Given the description of an element on the screen output the (x, y) to click on. 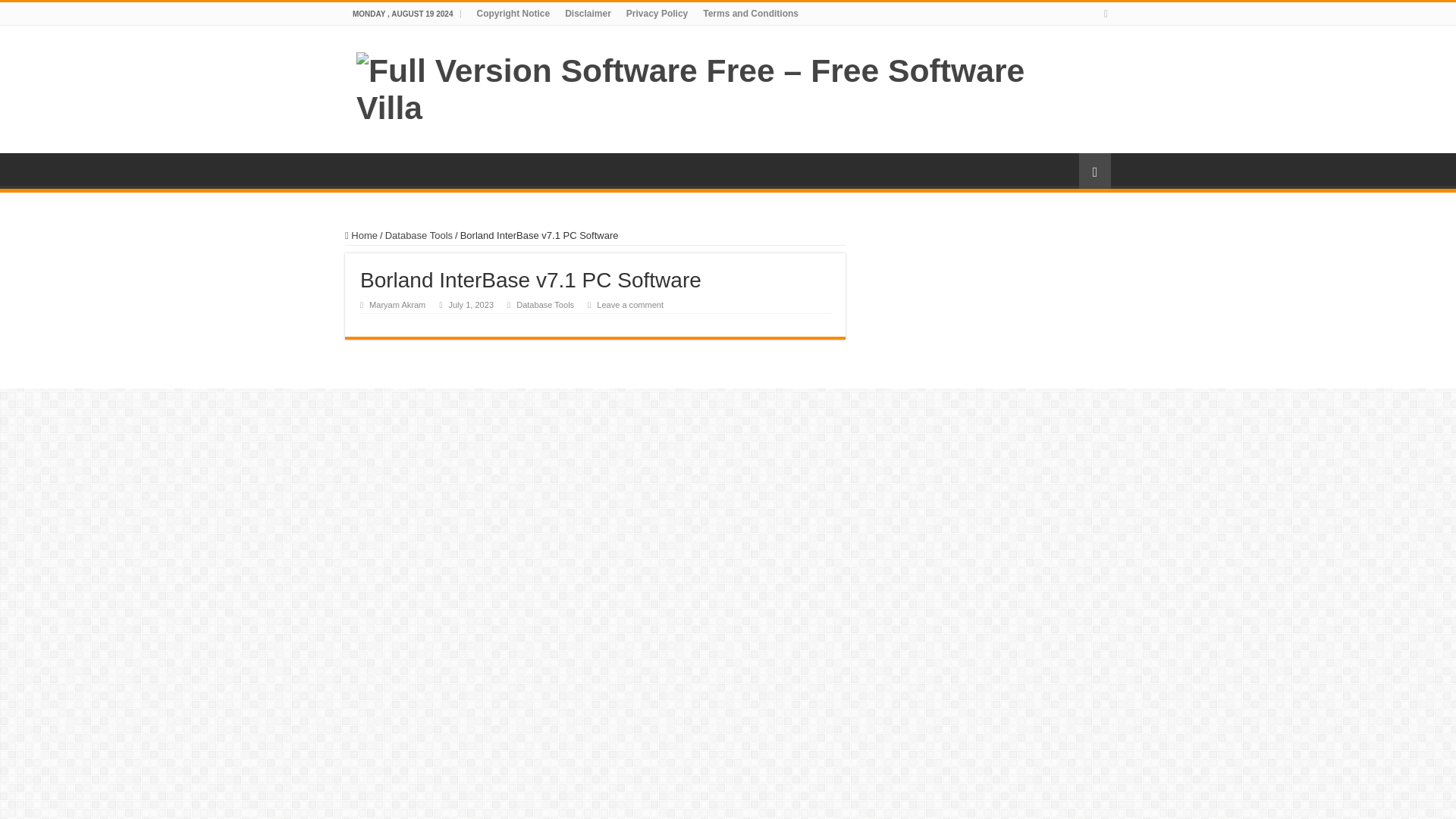
Disclaimer (587, 13)
Random Article (1094, 171)
Maryam Akram (397, 304)
Copyright Notice (512, 13)
Database Tools (418, 235)
Home (361, 235)
Database Tools (544, 304)
Privacy Policy (656, 13)
Leave a comment (629, 304)
Terms and Conditions (750, 13)
